Given the description of an element on the screen output the (x, y) to click on. 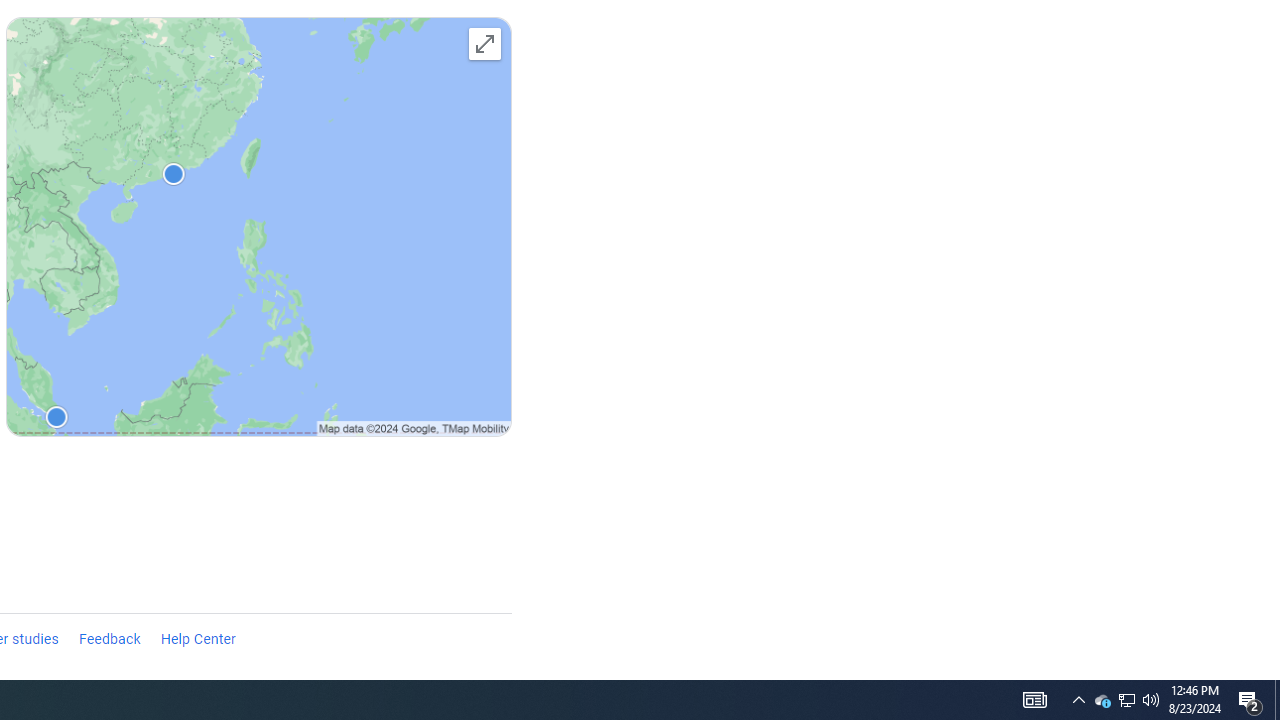
Explore destinations (484, 43)
Explore destinations (258, 229)
Help Center (198, 639)
Feedback (109, 639)
